Given the description of an element on the screen output the (x, y) to click on. 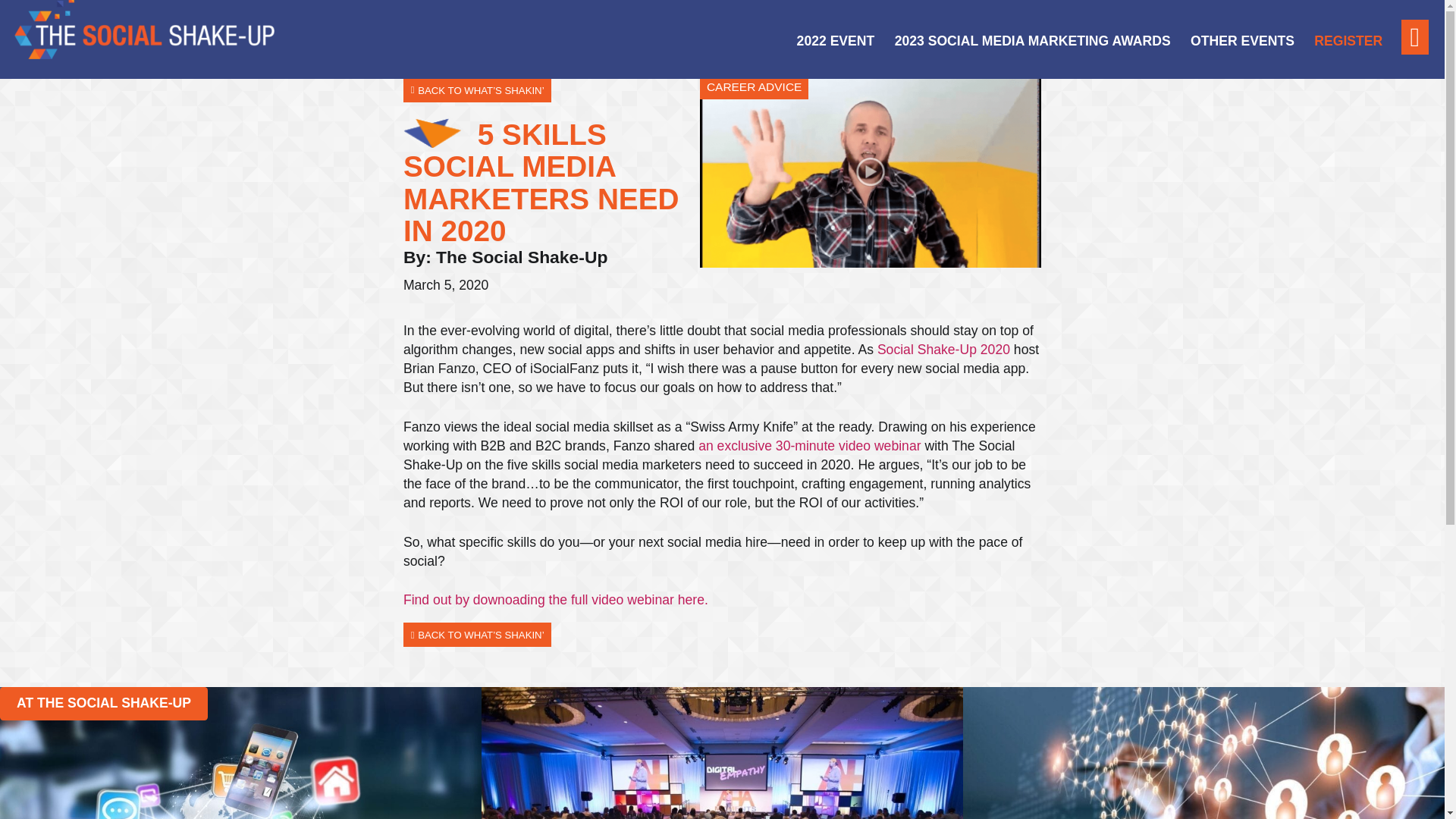
CAREER ADVICE (754, 86)
Social Shake-Up 2020 (943, 349)
REGISTER (1347, 40)
2023 SOCIAL MEDIA MARKETING AWARDS (1032, 40)
Find out by downoading the full video webinar here. (555, 599)
OTHER EVENTS (1242, 40)
an exclusive 30-minute video webinar (809, 445)
2022 EVENT (835, 40)
